Given the description of an element on the screen output the (x, y) to click on. 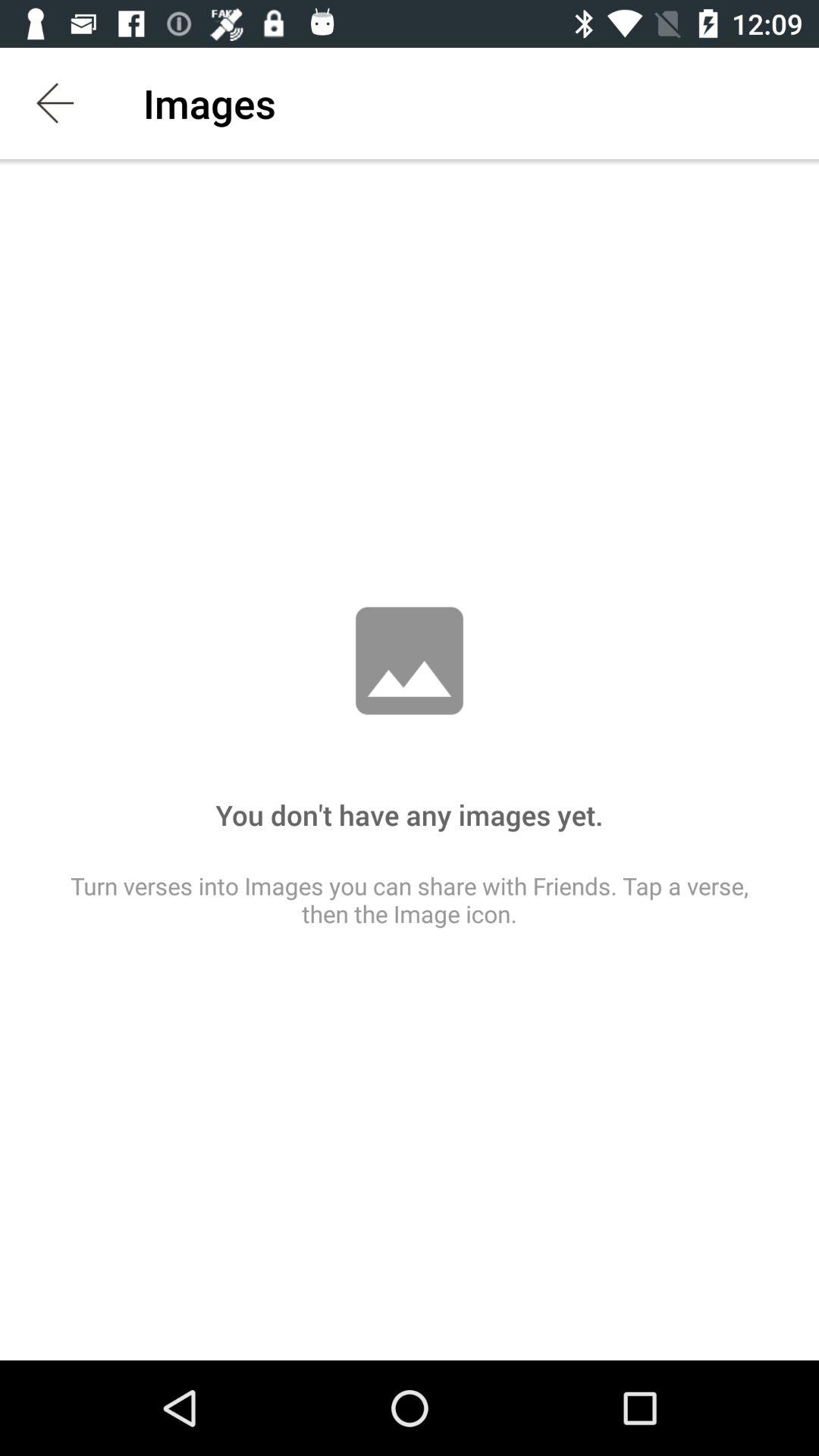
select the app next to the images icon (55, 103)
